Given the description of an element on the screen output the (x, y) to click on. 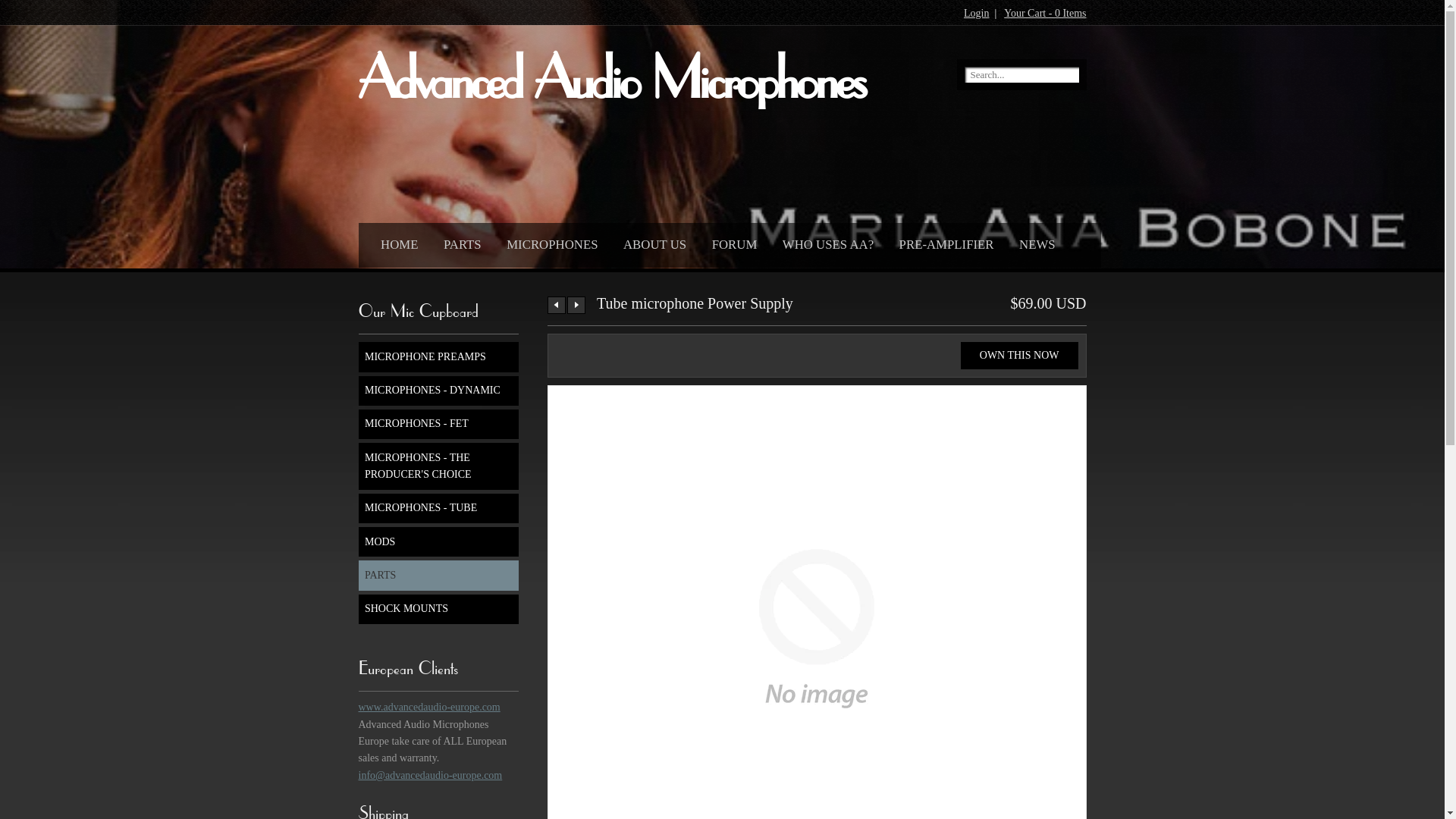
Your Cart - 0 Items Element type: text (1044, 12)
OWN This NOW Element type: text (1019, 355)
MICROPHONES - DYNAMIC Element type: text (437, 390)
FORUM Element type: text (730, 241)
MICROPHONES - FET Element type: text (437, 424)
HOME Element type: text (395, 241)
info@advancedaudio-europe.com Element type: text (429, 775)
MICROPHONES Element type: text (548, 241)
MODS Element type: text (437, 541)
PARTS Element type: text (458, 241)
www.advancedaudio-europe.com Element type: text (428, 706)
PARTS Element type: text (437, 574)
ABOUT US Element type: text (650, 241)
SHOCK MOUNTS Element type: text (437, 609)
MICROPHONES - TUBE Element type: text (437, 508)
WHO USES AA? Element type: text (824, 241)
MICROPHONE PREAMPS Element type: text (437, 356)
MICROPHONES - THE PRODUCER'S CHOICE Element type: text (437, 465)
NEWS Element type: text (1033, 241)
PRE-AMPLIFIER Element type: text (942, 241)
Login Element type: text (975, 12)
